Given the description of an element on the screen output the (x, y) to click on. 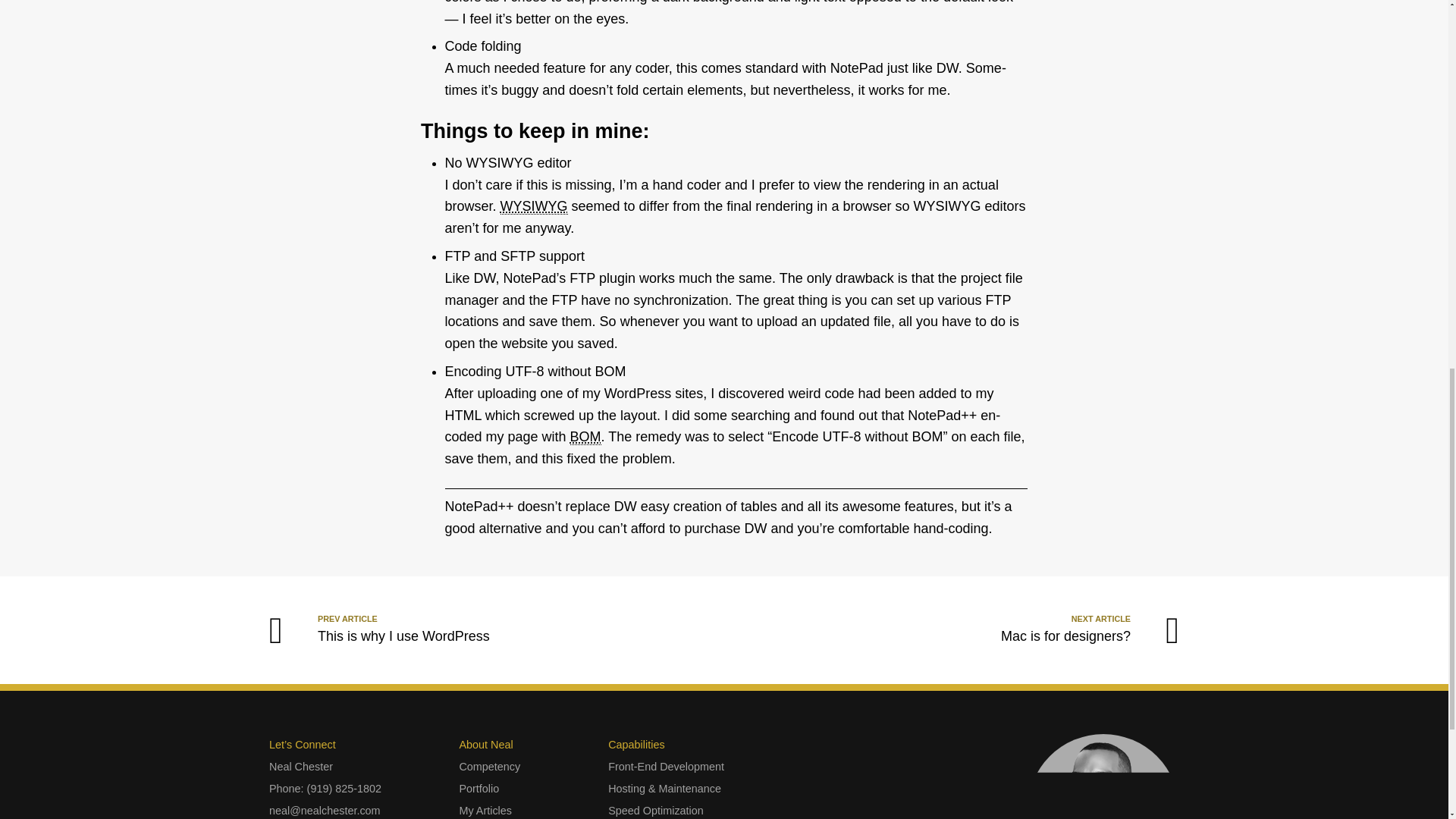
What You See Is What You Get (533, 206)
Byte Order Mark (585, 437)
My Articles (485, 810)
Portfolio (361, 629)
Front-End Development (478, 788)
Speed Optimization (665, 766)
Neal Chester (655, 810)
